Given the description of an element on the screen output the (x, y) to click on. 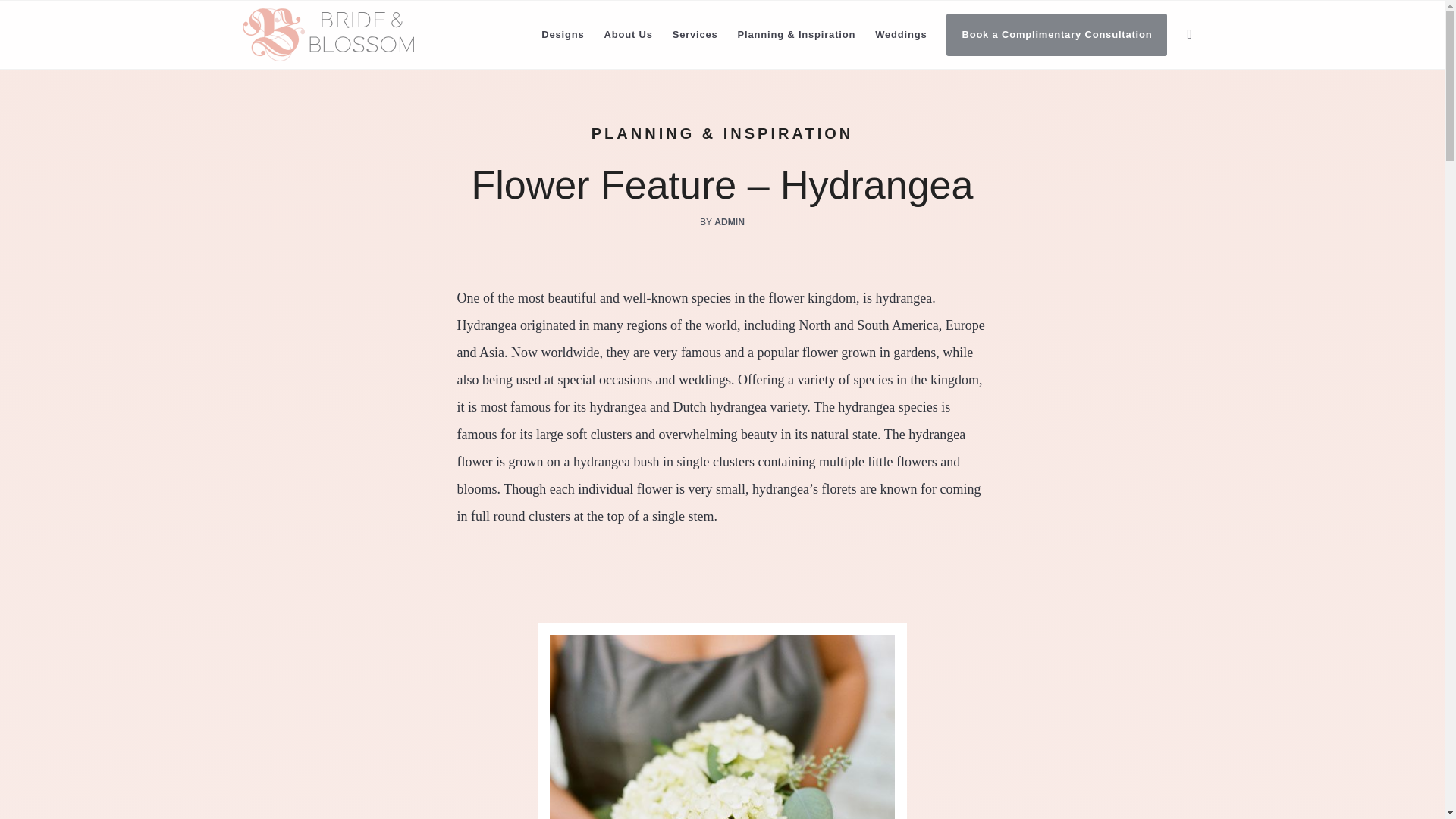
Weddings (900, 34)
About Us (628, 34)
Book a Complimentary Consultation (1056, 34)
Designs (562, 34)
Designs (562, 34)
About Us (628, 34)
ADMIN (729, 222)
Posts by admin (729, 222)
Services (695, 34)
Weddings (900, 34)
Book a Complimentary Consultation (1056, 34)
Services (695, 34)
